Given the description of an element on the screen output the (x, y) to click on. 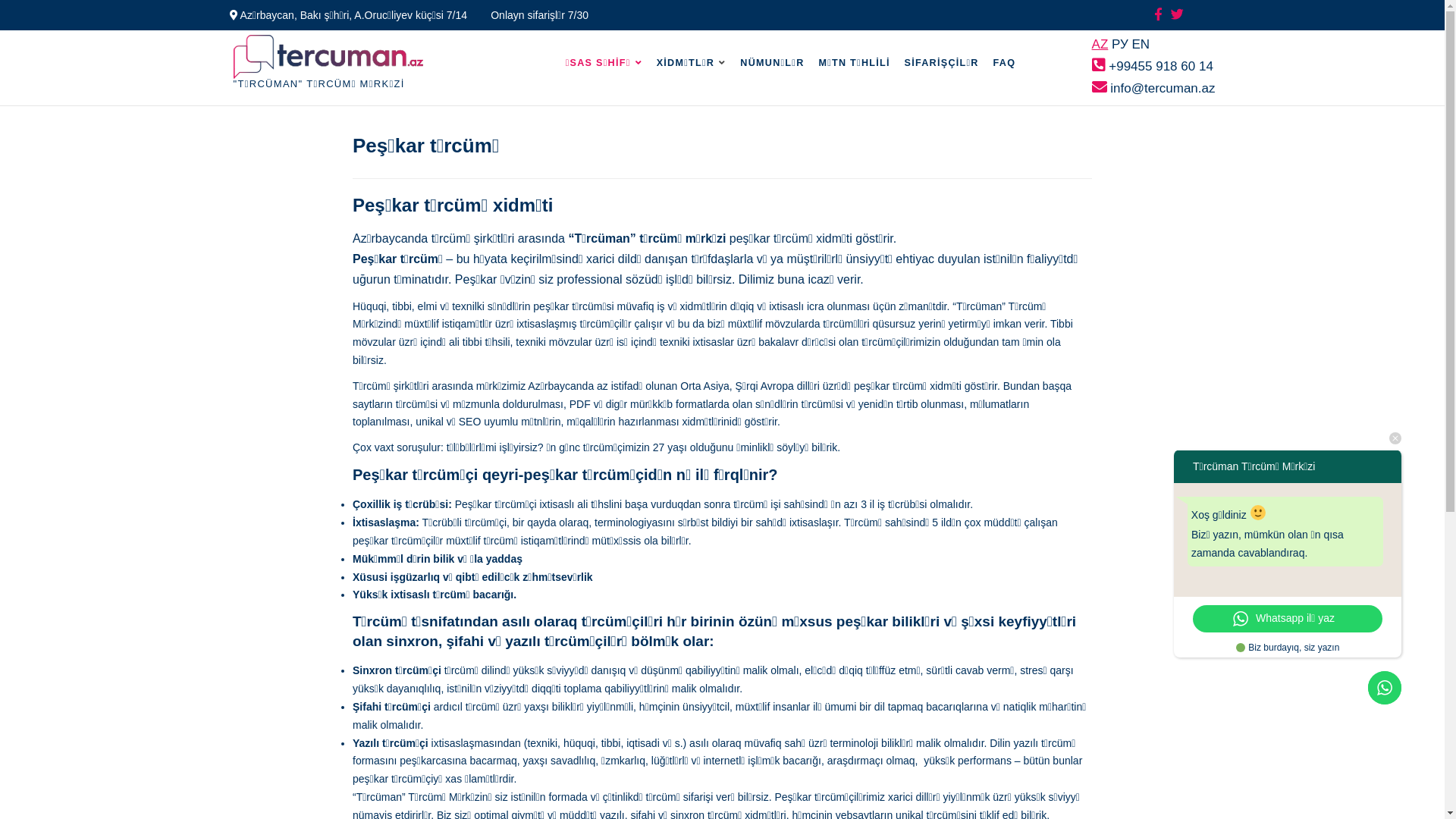
EN Element type: text (1141, 44)
AZ Element type: text (1100, 44)
 info@tercuman.az Element type: text (1153, 88)
+99455 918 60 14 Element type: text (1152, 66)
FAQ Element type: text (1004, 62)
